Given the description of an element on the screen output the (x, y) to click on. 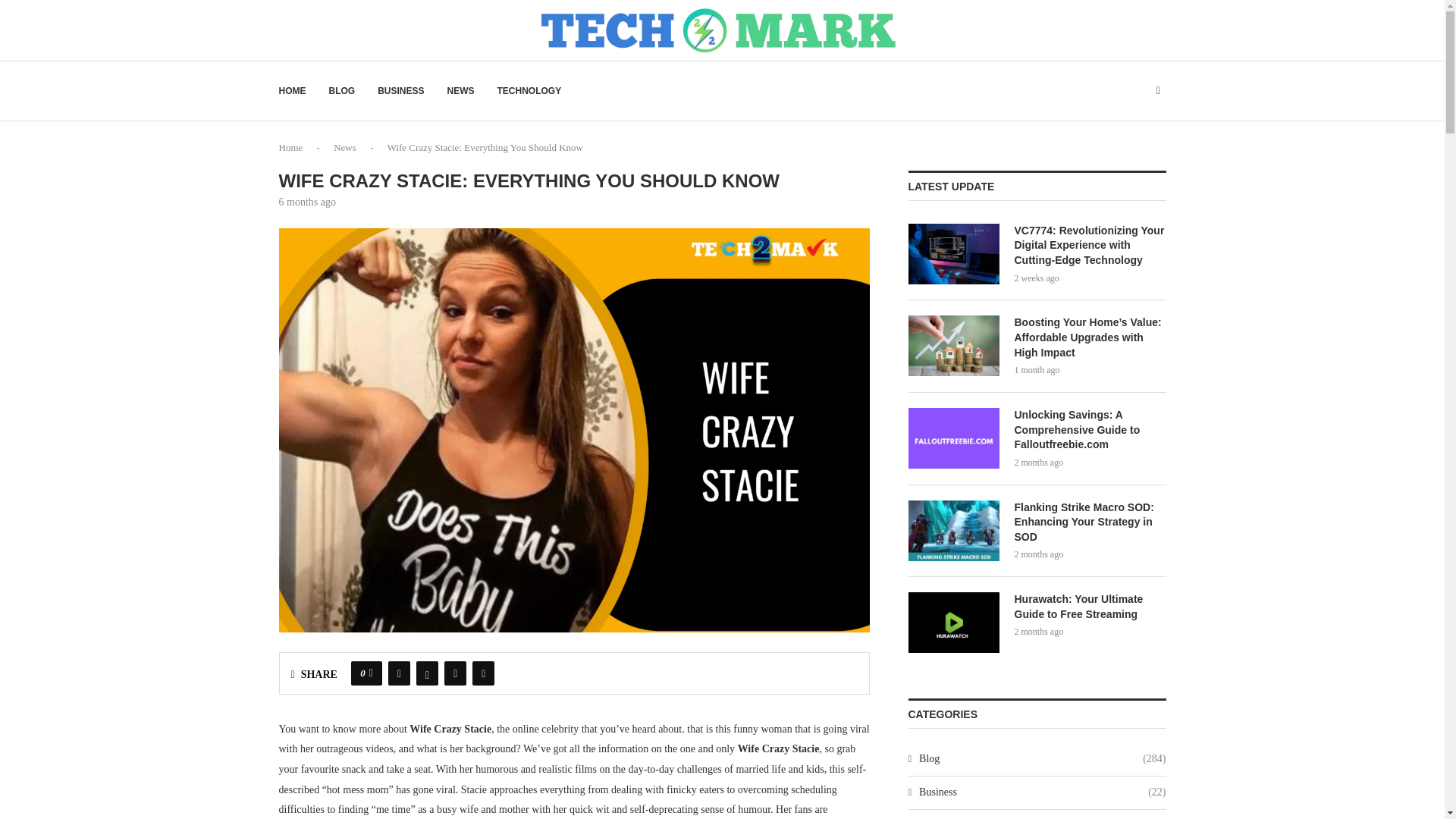
TECHNOLOGY (529, 90)
BUSINESS (400, 90)
News (344, 147)
Home (290, 147)
